Given the description of an element on the screen output the (x, y) to click on. 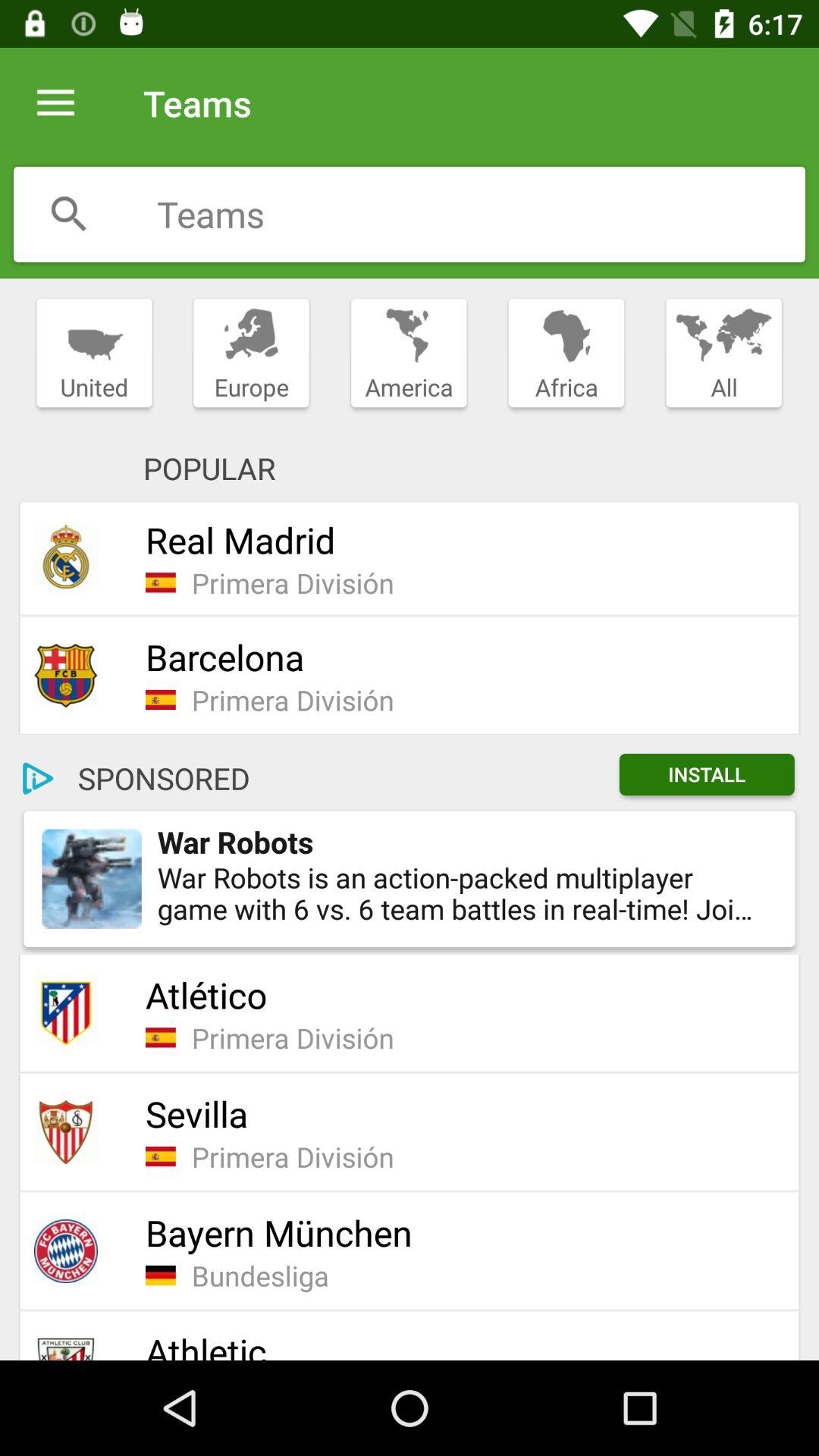
turn on the icon to the right of the united states item (250, 353)
